Given the description of an element on the screen output the (x, y) to click on. 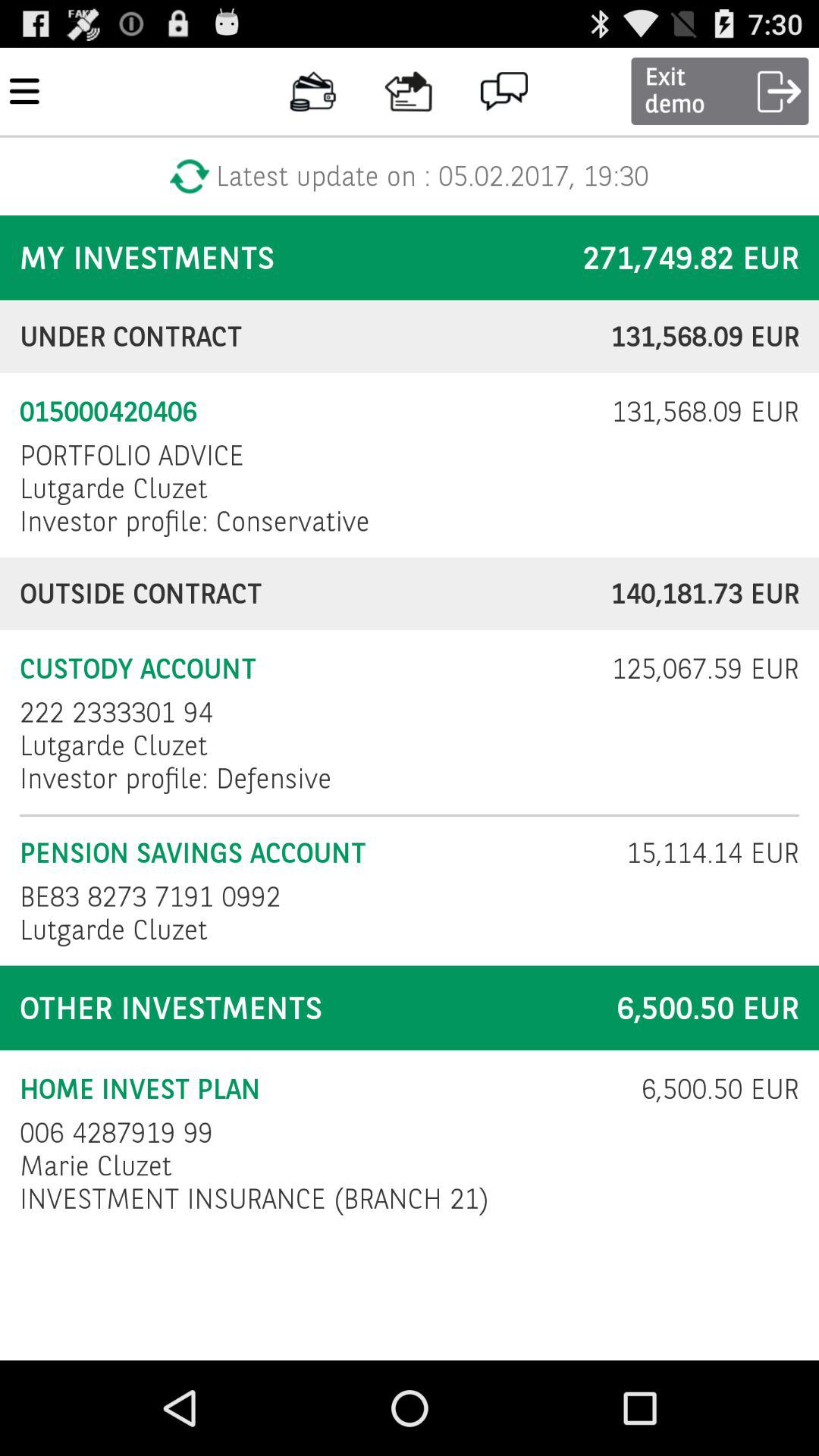
turn on the item below marie cluzet icon (254, 1198)
